Given the description of an element on the screen output the (x, y) to click on. 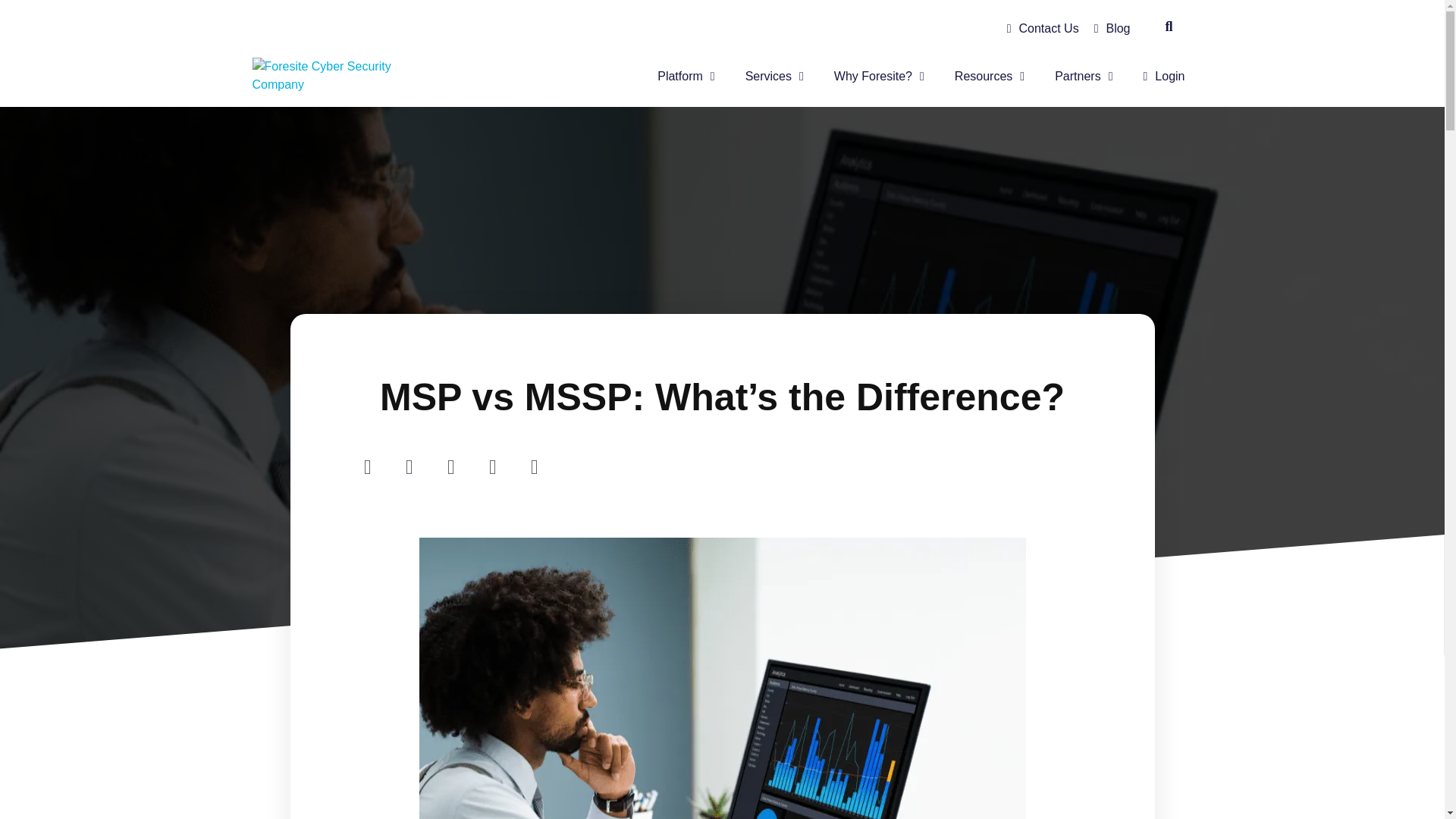
Blog (1112, 28)
Contact Us (1042, 28)
Why Foresite? (879, 76)
Services (774, 76)
Platform (685, 76)
